Given the description of an element on the screen output the (x, y) to click on. 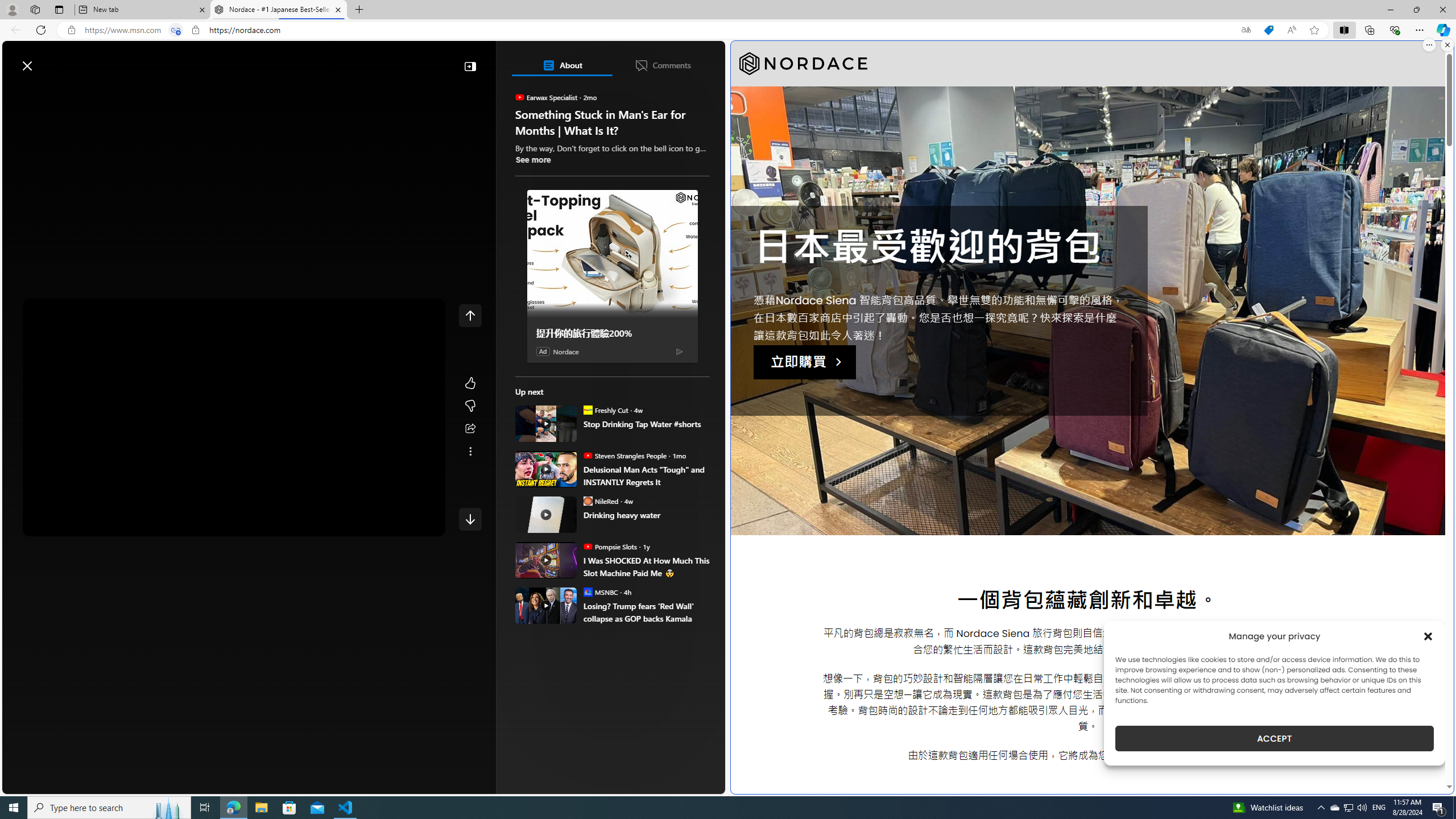
Watch (145, 92)
NileRed (587, 500)
Enter your search term (366, 59)
Web search (161, 60)
This site has coupons! Shopping in Microsoft Edge (1268, 29)
Share this story (469, 428)
Microsoft Start (53, 60)
MSNBC (587, 591)
MSNBC MSNBC (600, 591)
Delusional Man Acts "Tough" and INSTANTLY Regrets It (646, 475)
See more (533, 159)
Open navigation menu (16, 92)
